Given the description of an element on the screen output the (x, y) to click on. 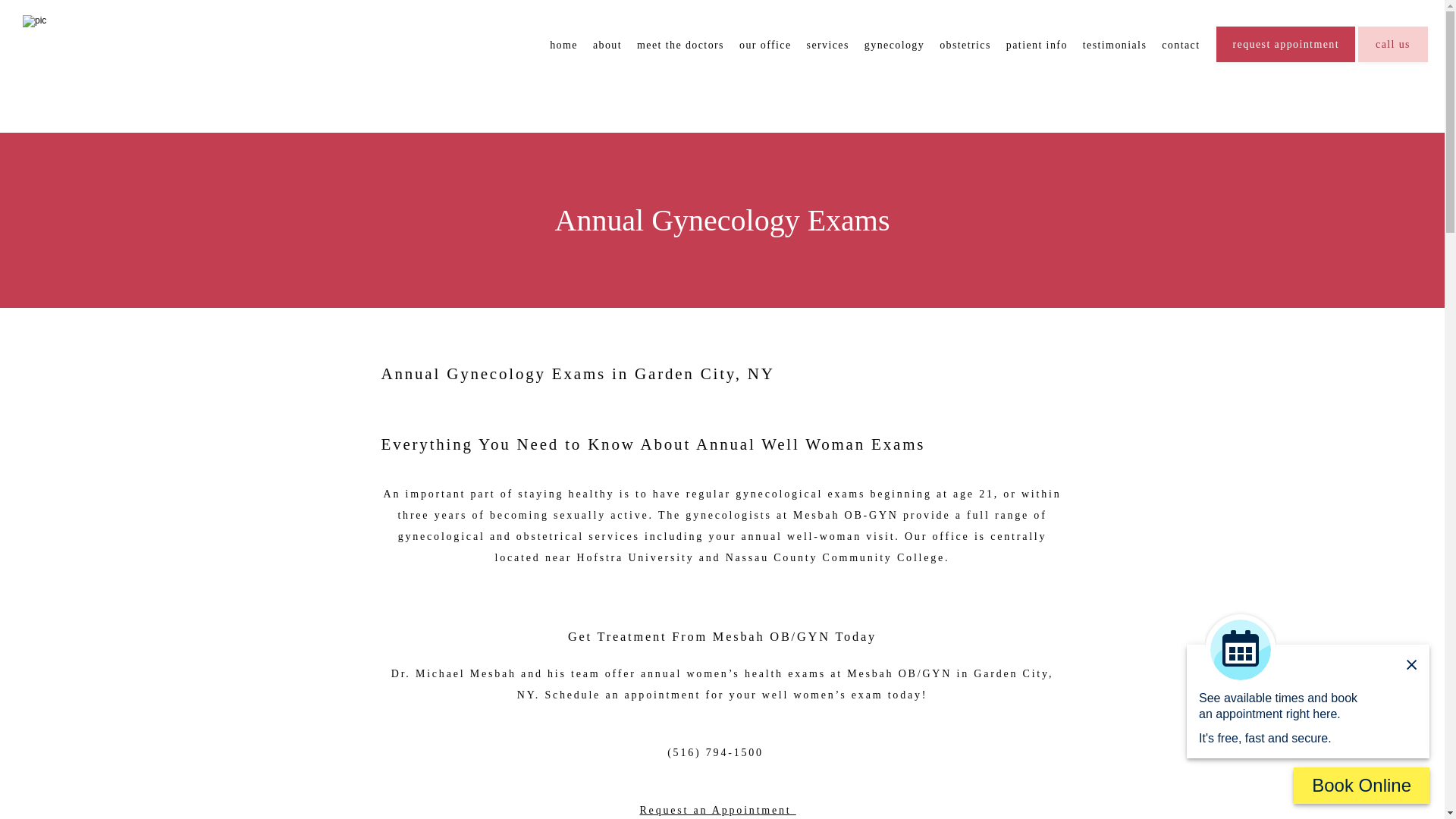
about (606, 44)
meet the doctors (680, 44)
Mesbah Ob-Gyn (61, 18)
services (827, 44)
home (564, 44)
